Given the description of an element on the screen output the (x, y) to click on. 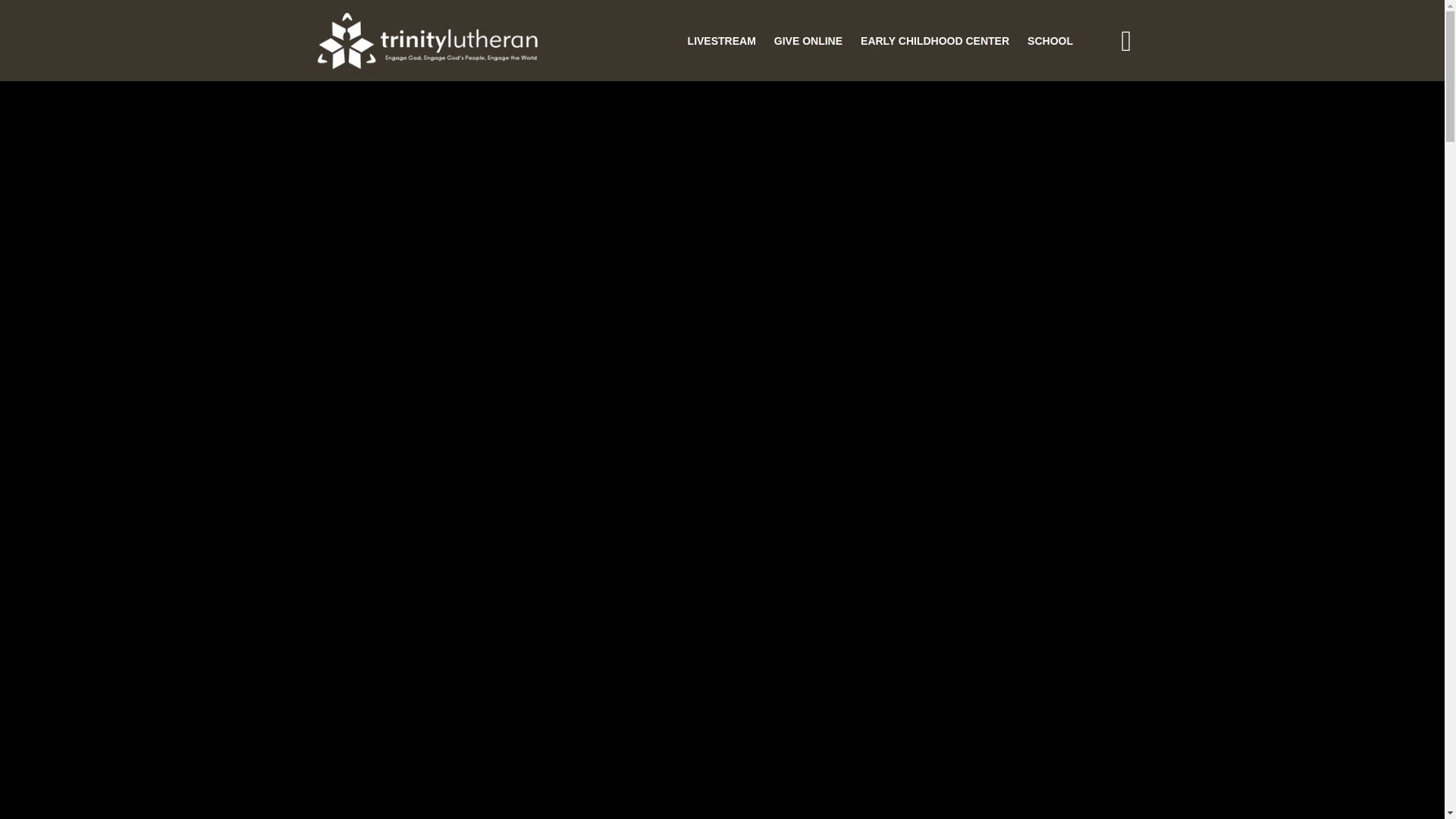
School (1050, 40)
LIVESTREAM (721, 40)
Give Online (808, 40)
EARLY CHILDHOOD CENTER (934, 40)
GIVE ONLINE (808, 40)
Livestream (721, 40)
Early Childhood Center (934, 40)
SCHOOL (1050, 40)
